Given the description of an element on the screen output the (x, y) to click on. 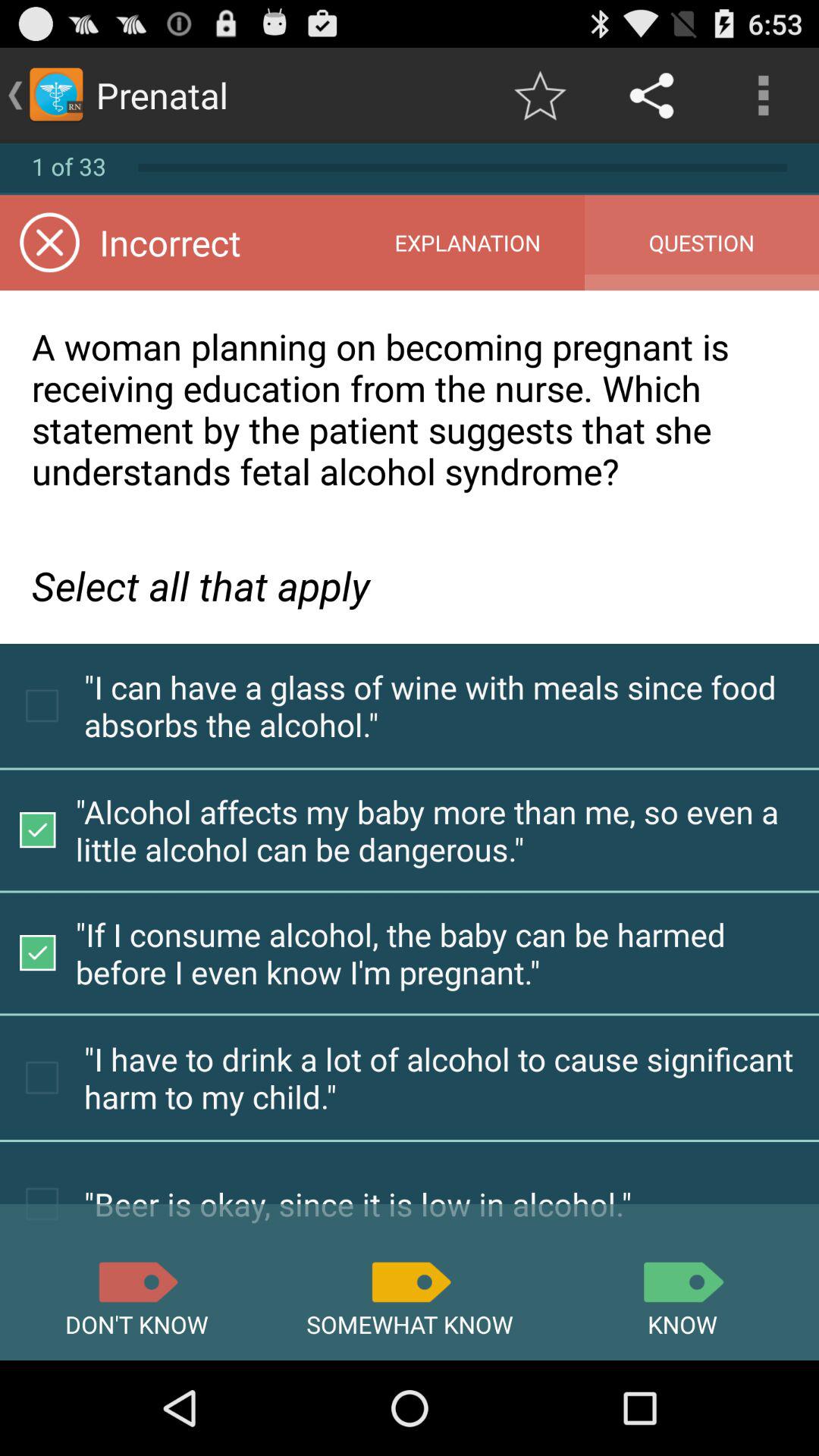
scroll until the explanation button (467, 242)
